Given the description of an element on the screen output the (x, y) to click on. 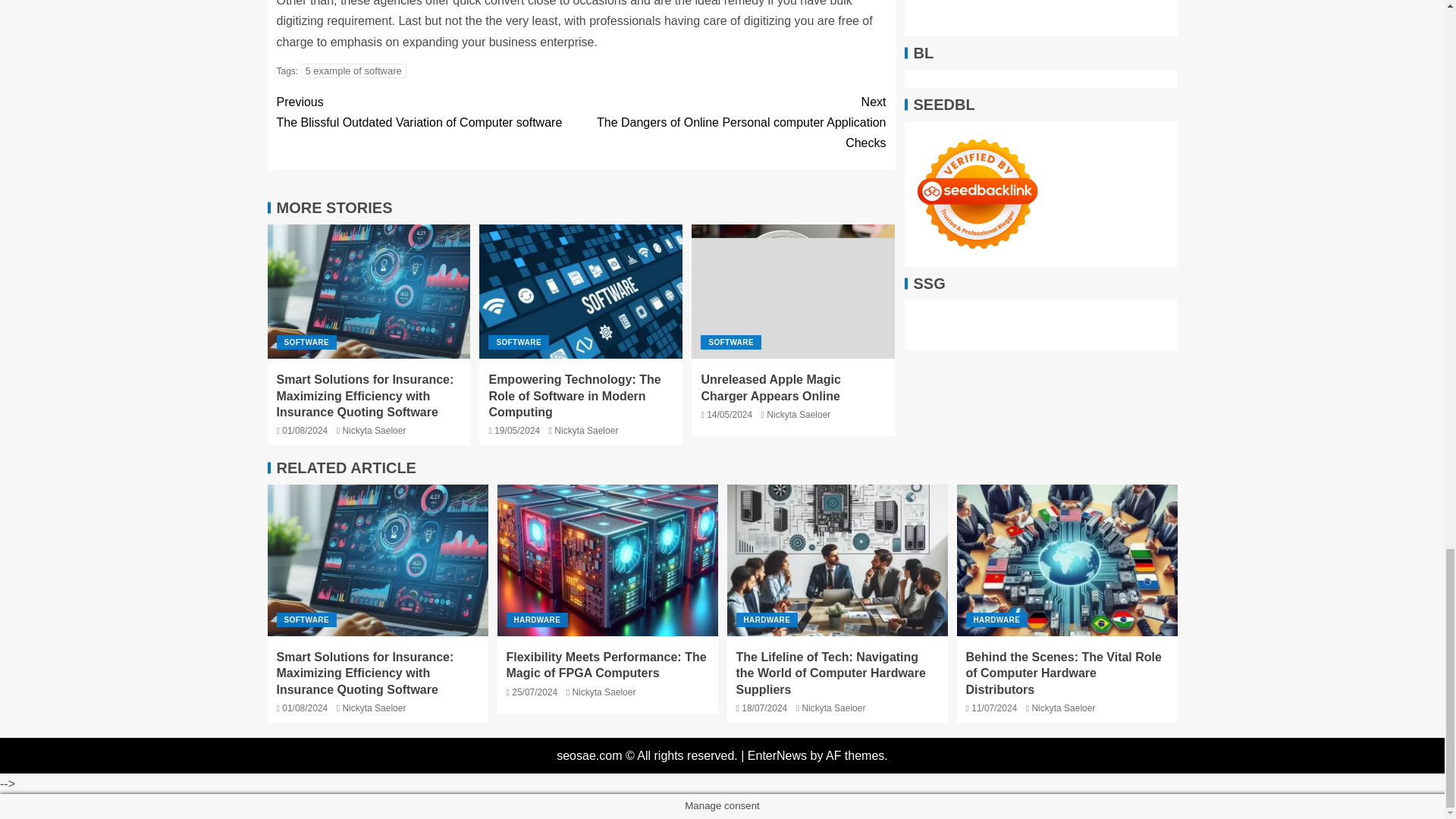
SOFTWARE (306, 341)
Nickyta Saeloer (585, 430)
Unreleased Apple Magic Charger Appears Online (770, 387)
Nickyta Saeloer (374, 430)
SOFTWARE (730, 341)
